Given the description of an element on the screen output the (x, y) to click on. 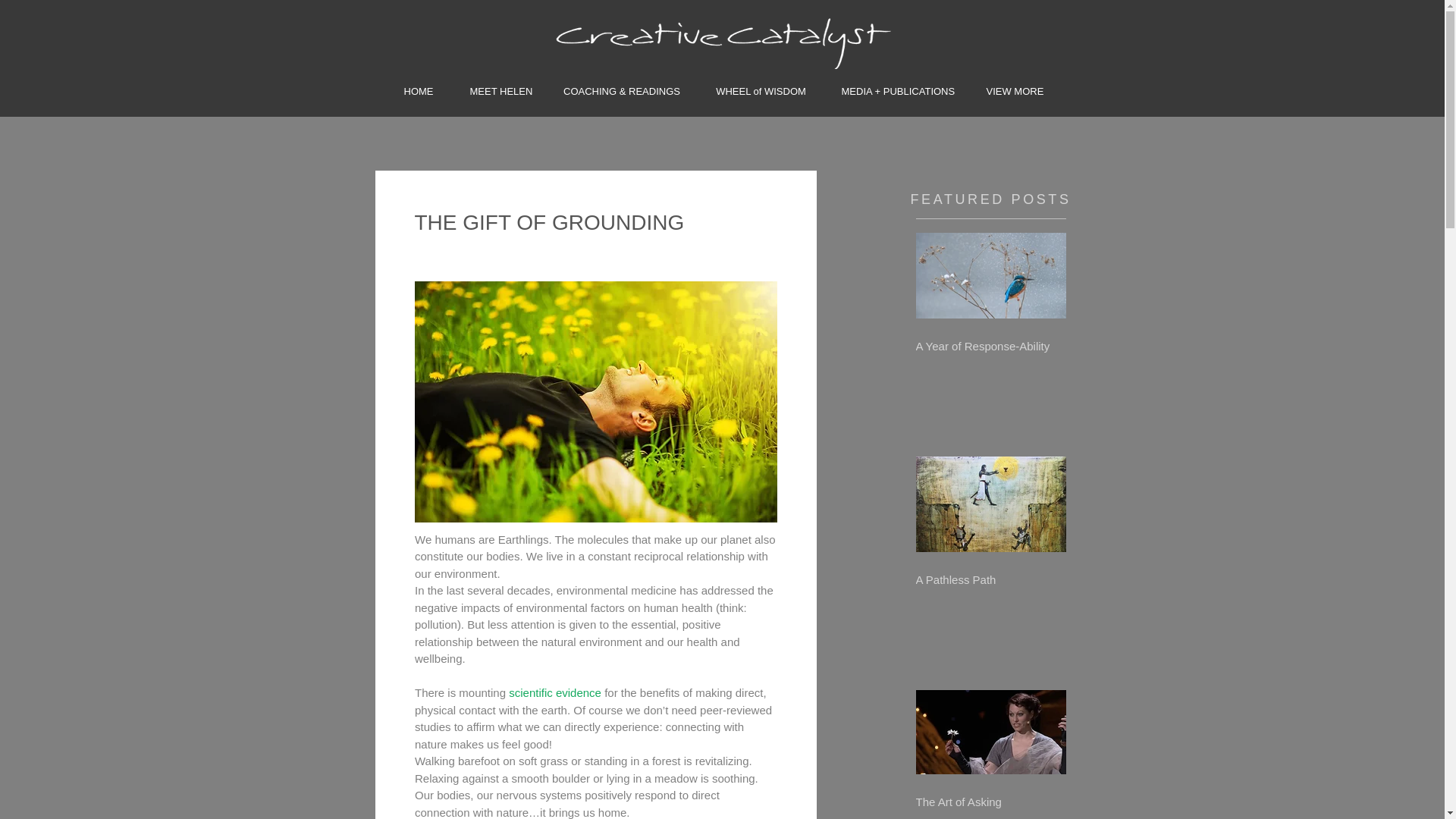
WHEEL of WISDOM (760, 84)
HOME (418, 84)
The Art of Asking (990, 801)
scientific evidence (554, 692)
A Year of Response-Ability (990, 345)
A Pathless Path (990, 579)
